Given the description of an element on the screen output the (x, y) to click on. 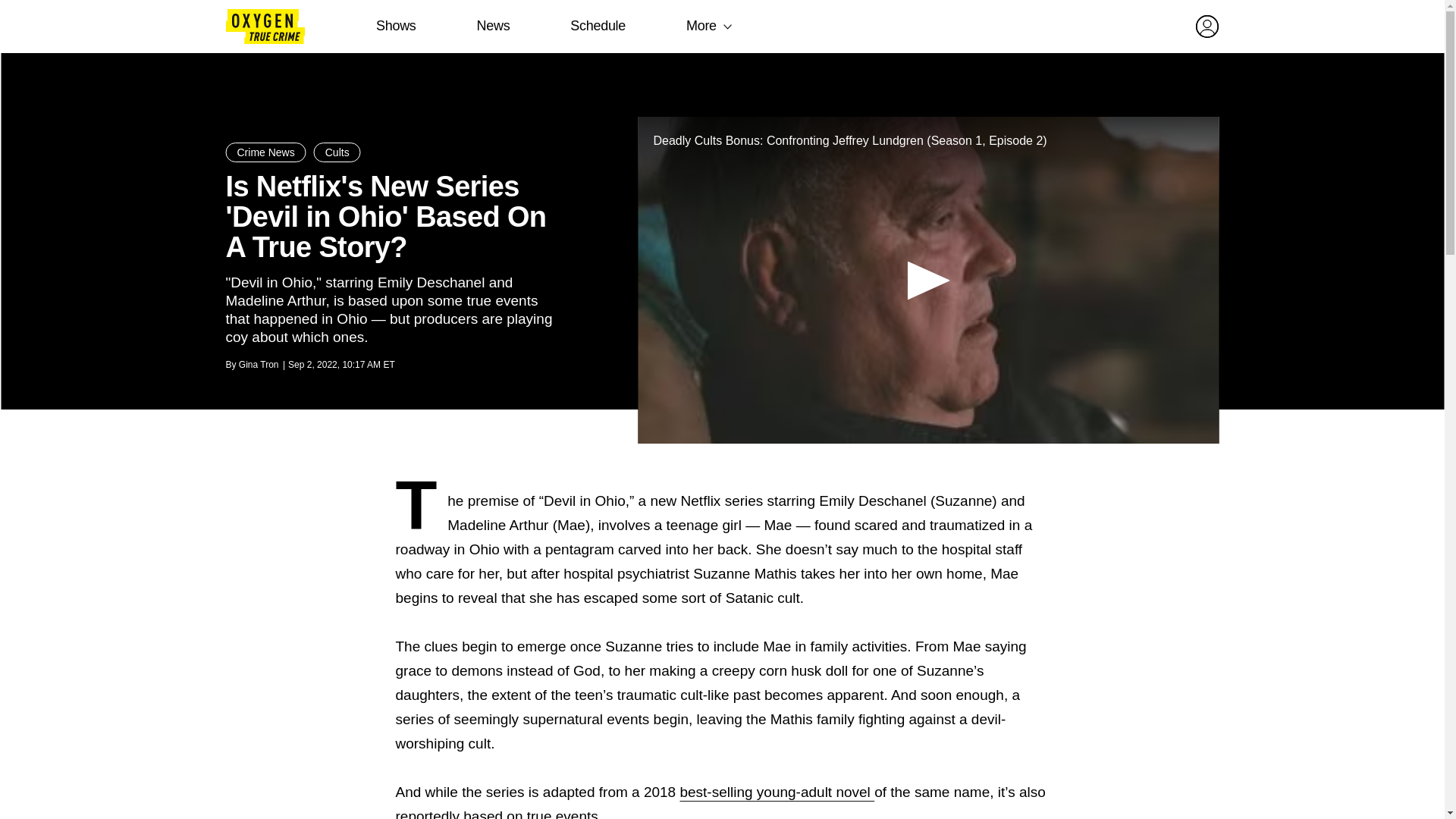
Schedule (598, 26)
best-selling young-adult novel (777, 791)
More (700, 26)
Cults (337, 152)
News (492, 26)
Gina Tron (258, 364)
Crime News (265, 152)
Shows (395, 26)
